Given the description of an element on the screen output the (x, y) to click on. 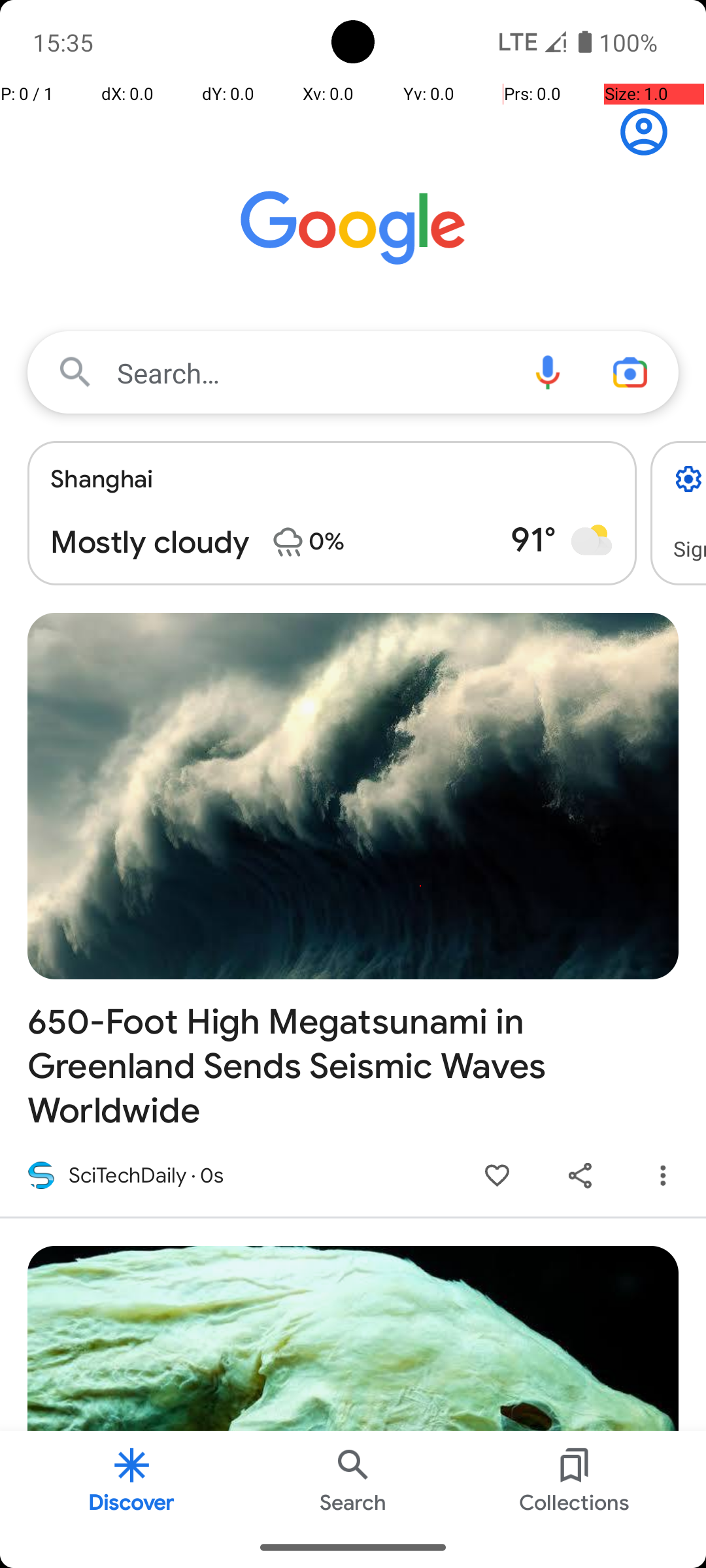
Sign in Element type: android.widget.FrameLayout (650, 131)
Collections Button Element type: android.widget.FrameLayout (574, 1478)
Like Element type: android.view.ViewGroup (497, 1175)
Share 650-Foot High Megatsunami in Greenland Sends Seismic Waves Worldwide Element type: android.view.ViewGroup (580, 1175)
Chance of precipitation (287, 541)
